Given the description of an element on the screen output the (x, y) to click on. 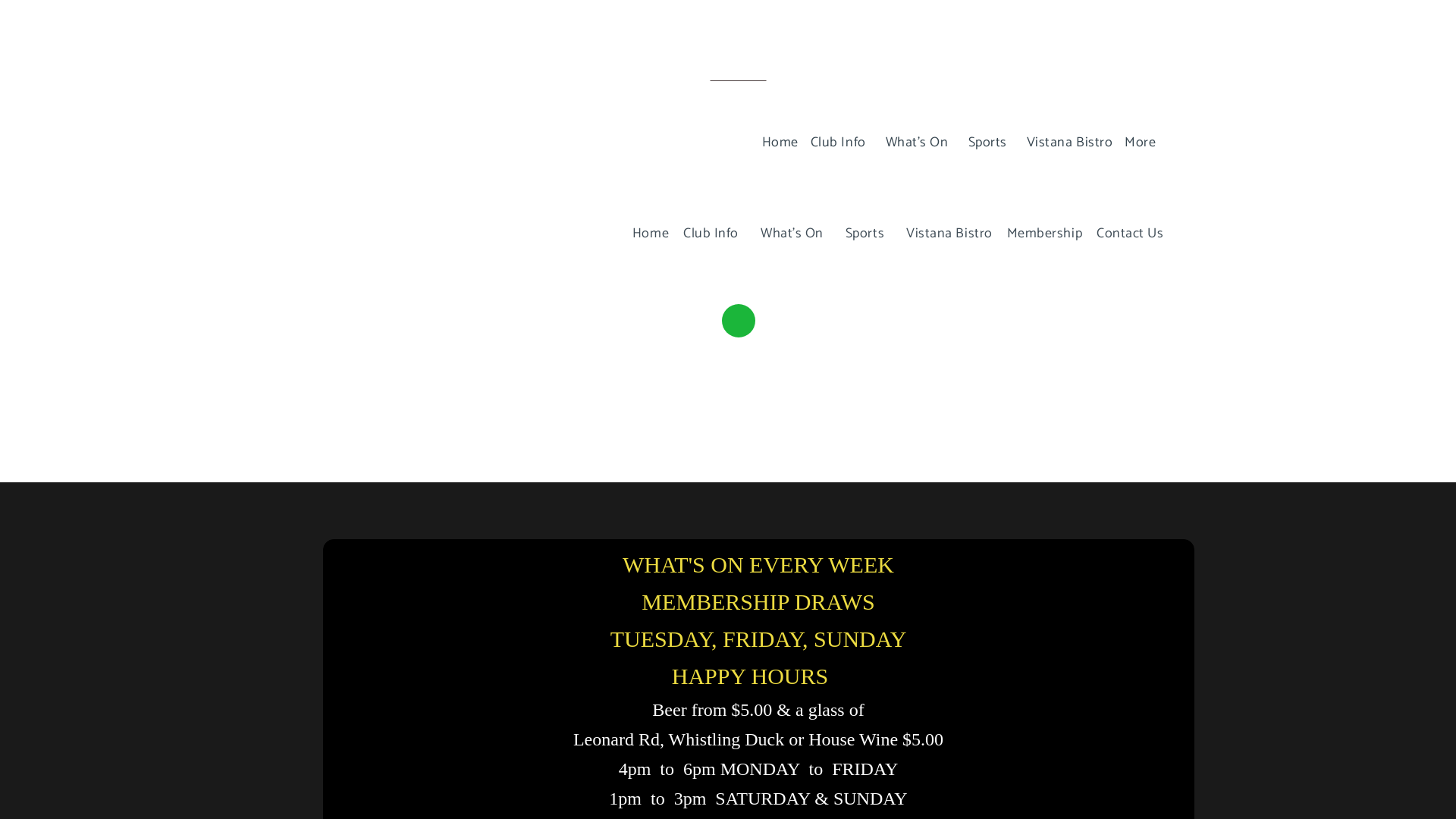
Sports Element type: text (985, 142)
Home Element type: text (643, 233)
Home Element type: text (773, 142)
Club Info Element type: text (707, 233)
Vistana Bistro Element type: text (941, 233)
More Element type: text (1137, 142)
Contact Us Element type: text (1122, 233)
Vistana Bistro Element type: text (1063, 142)
What's On Element type: text (788, 233)
What's On Element type: text (914, 142)
Club Info Element type: text (835, 142)
Subscribe Element type: text (738, 75)
Membership Element type: text (1037, 233)
Sports Element type: text (861, 233)
